Given the description of an element on the screen output the (x, y) to click on. 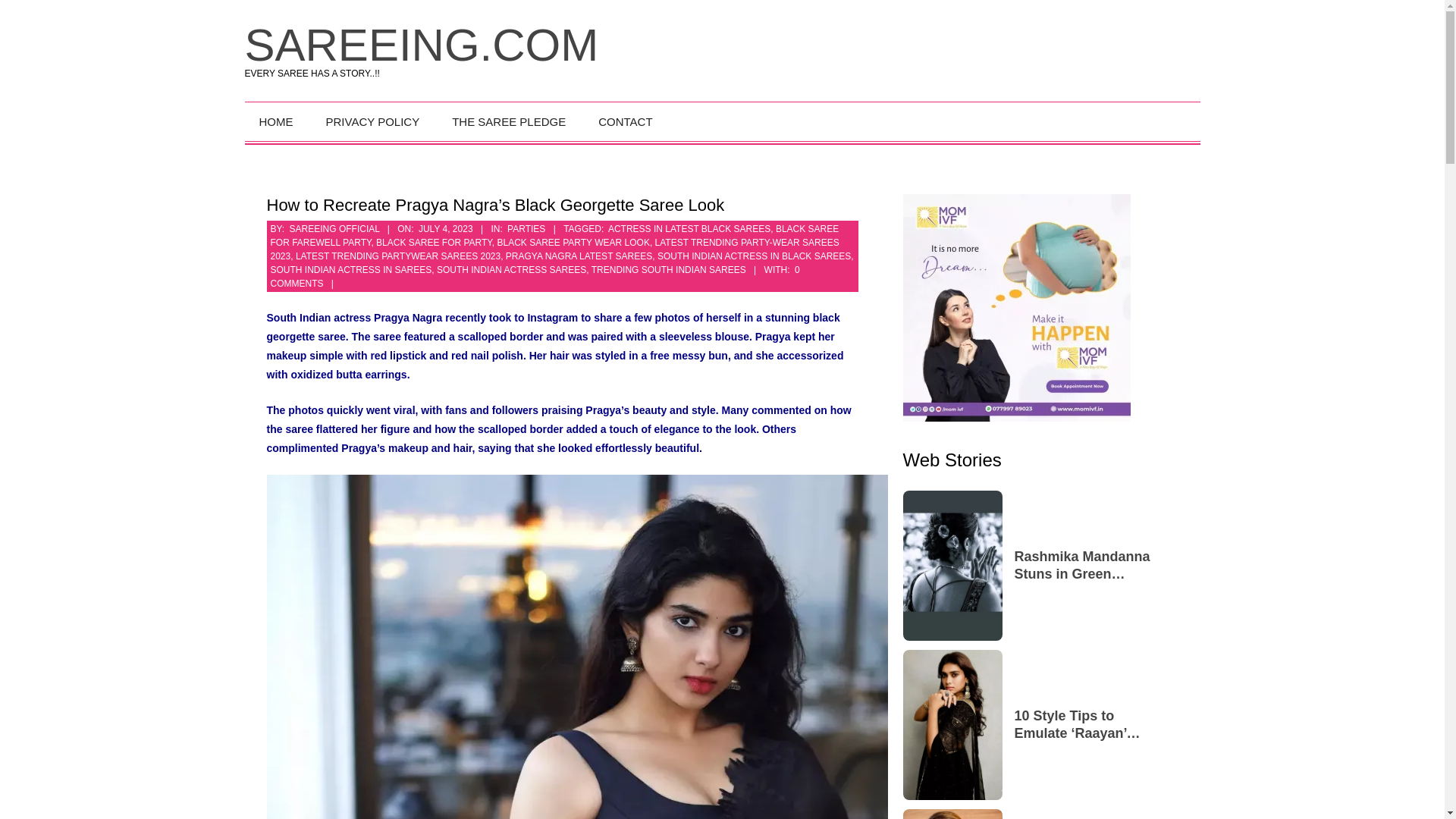
BLACK SAREE FOR PARTY (433, 242)
PRAGYA NAGRA LATEST SAREES (578, 255)
SOUTH INDIAN ACTRESS SAREES (511, 269)
0 COMMENTS (534, 276)
SOUTH INDIAN ACTRESS IN SAREES (349, 269)
BLACK SAREE FOR FAREWELL PARTY (553, 235)
TRENDING SOUTH INDIAN SAREES (668, 269)
Tuesday, July 4, 2023, 9:18 pm (446, 228)
SAREEING OFFICIAL (334, 228)
LATEST TRENDING PARTY-WEAR SAREES 2023 (553, 249)
PRIVACY POLICY (374, 121)
HOME (277, 121)
ACTRESS IN LATEST BLACK SAREES (689, 228)
Posts by Sareeing Official (334, 228)
THE SAREE PLEDGE (510, 121)
